Given the description of an element on the screen output the (x, y) to click on. 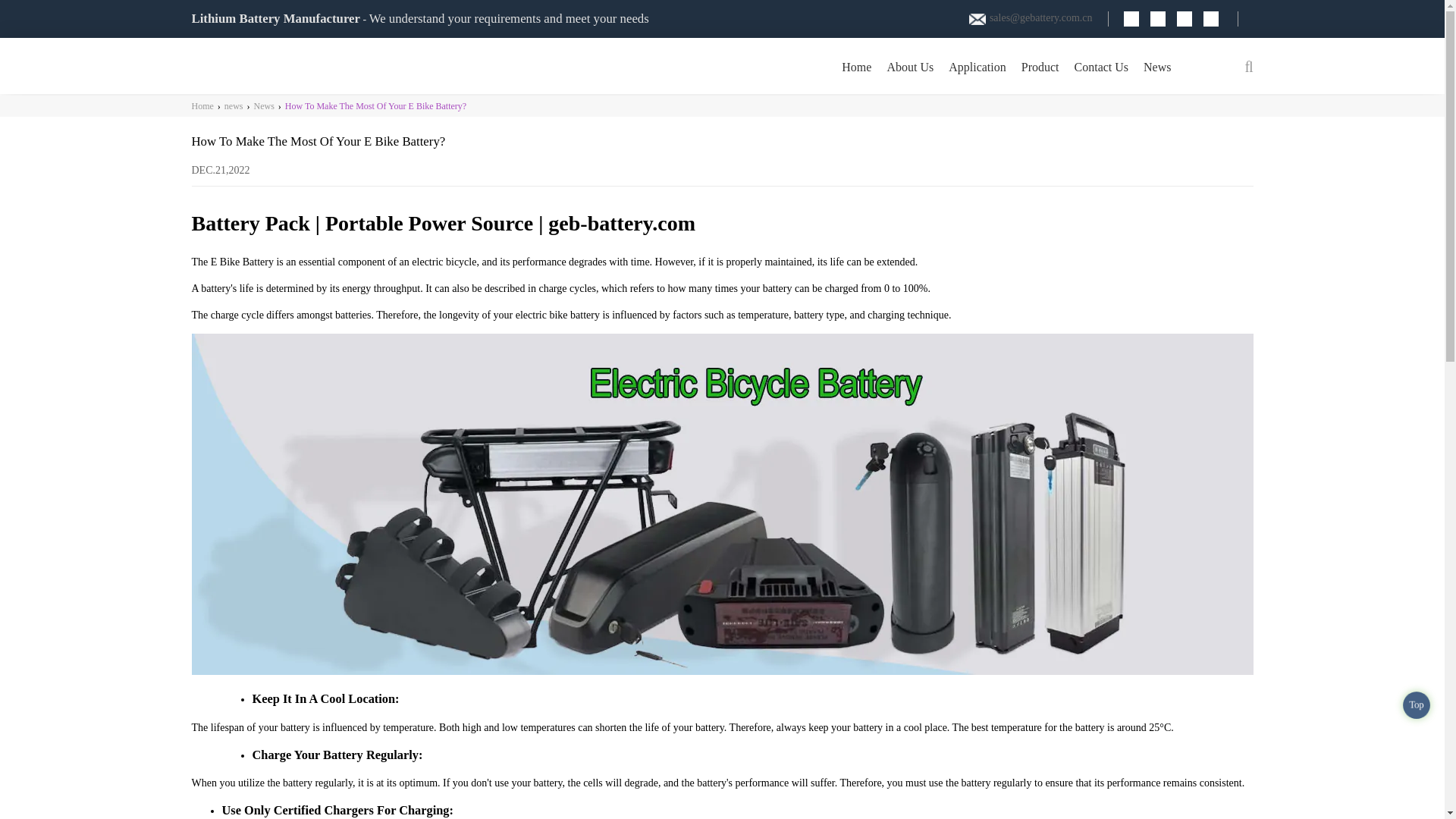
Application (976, 66)
top (1418, 707)
Contact Us (1102, 66)
Product (1040, 66)
About Us (909, 66)
